Given the description of an element on the screen output the (x, y) to click on. 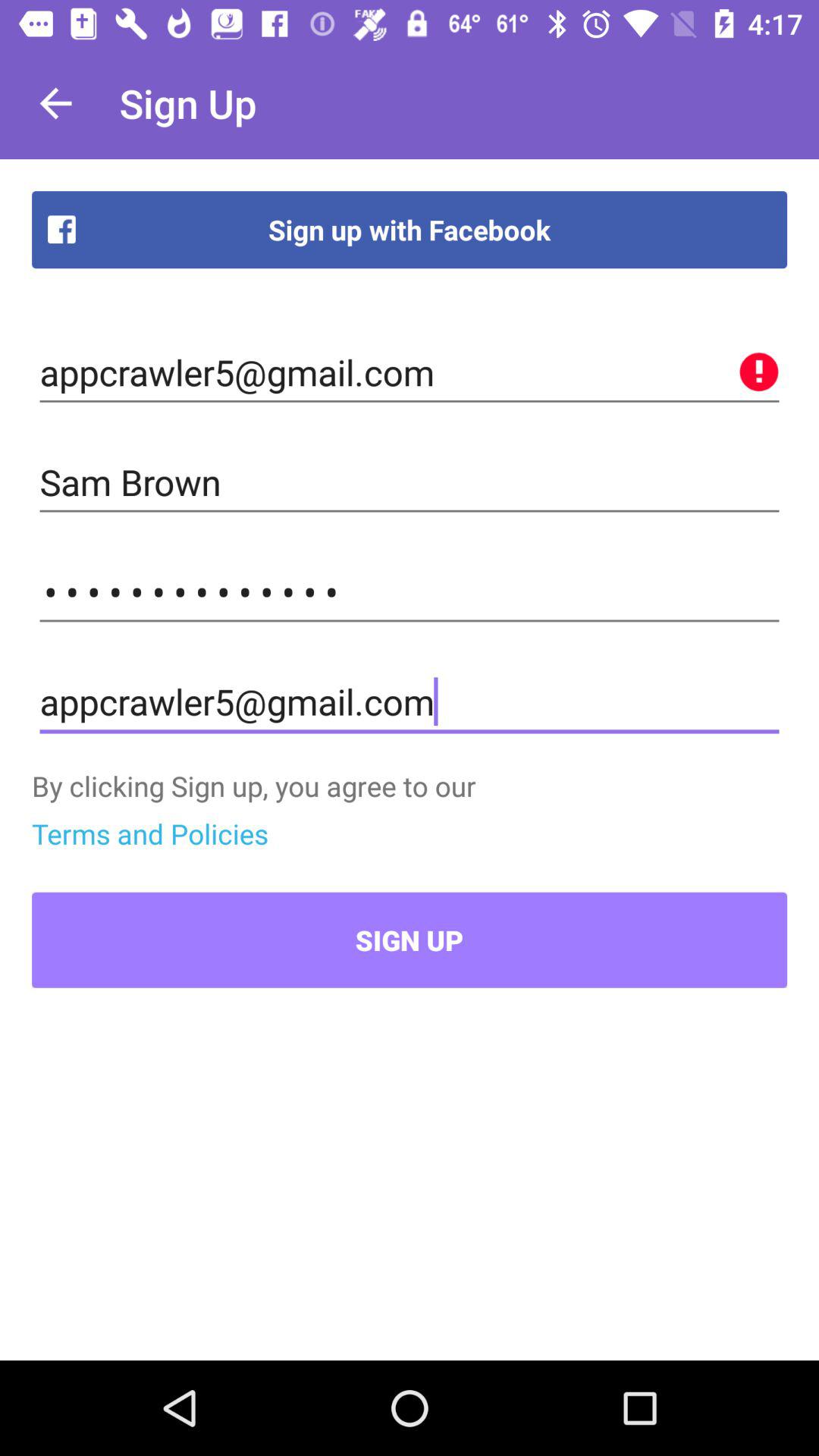
press the app next to the sign up app (55, 103)
